Given the description of an element on the screen output the (x, y) to click on. 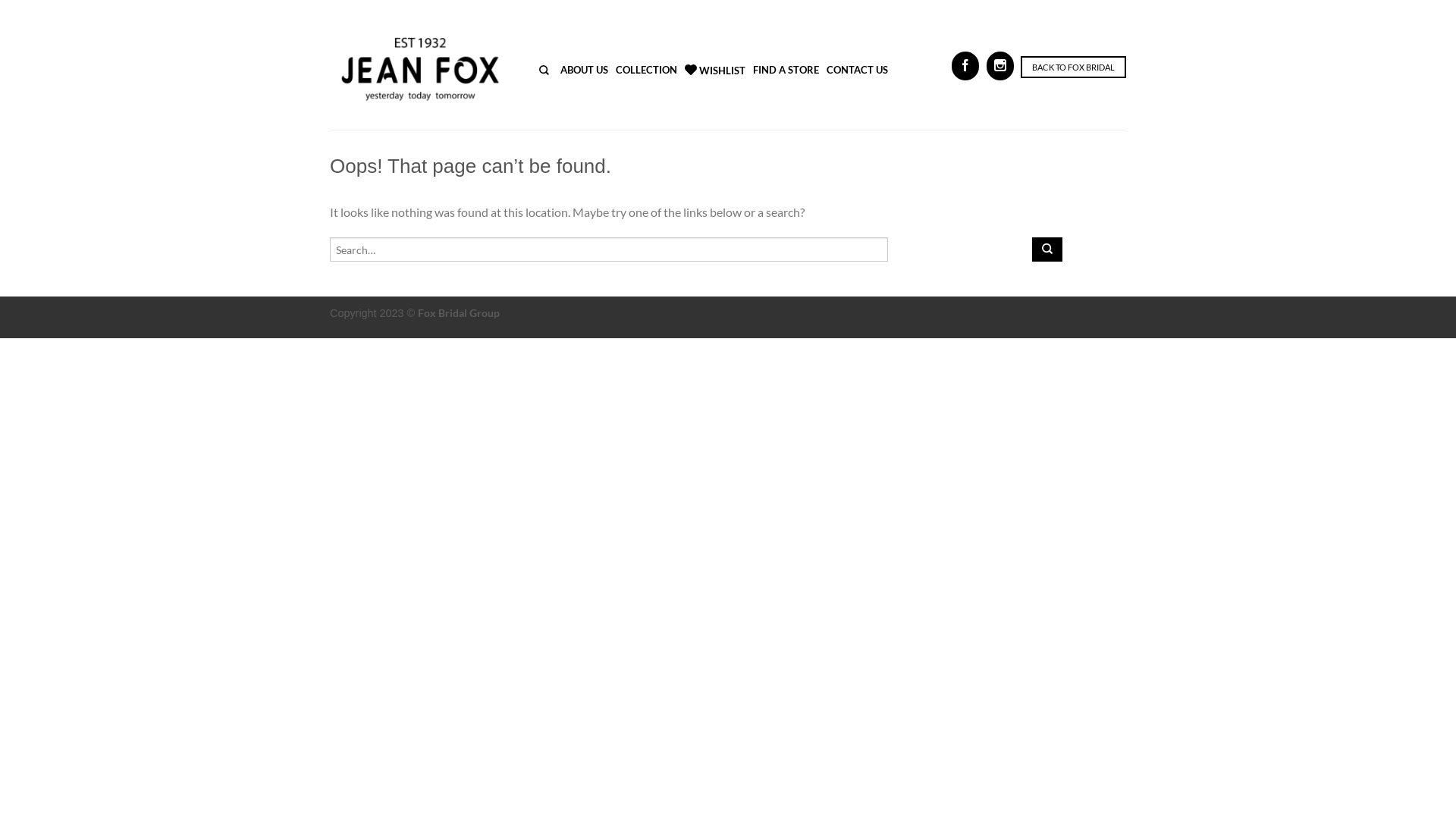
BACK TO FOX BRIDAL Element type: text (1073, 67)
WISHLIST Element type: text (722, 70)
ABOUT US Element type: text (584, 69)
Follow us on Instagram Element type: hover (999, 65)
FIND A STORE Element type: text (786, 69)
Follow us on Facebook Element type: hover (965, 65)
COLLECTION Element type: text (646, 69)
CONTACT US Element type: text (857, 69)
